Given the description of an element on the screen output the (x, y) to click on. 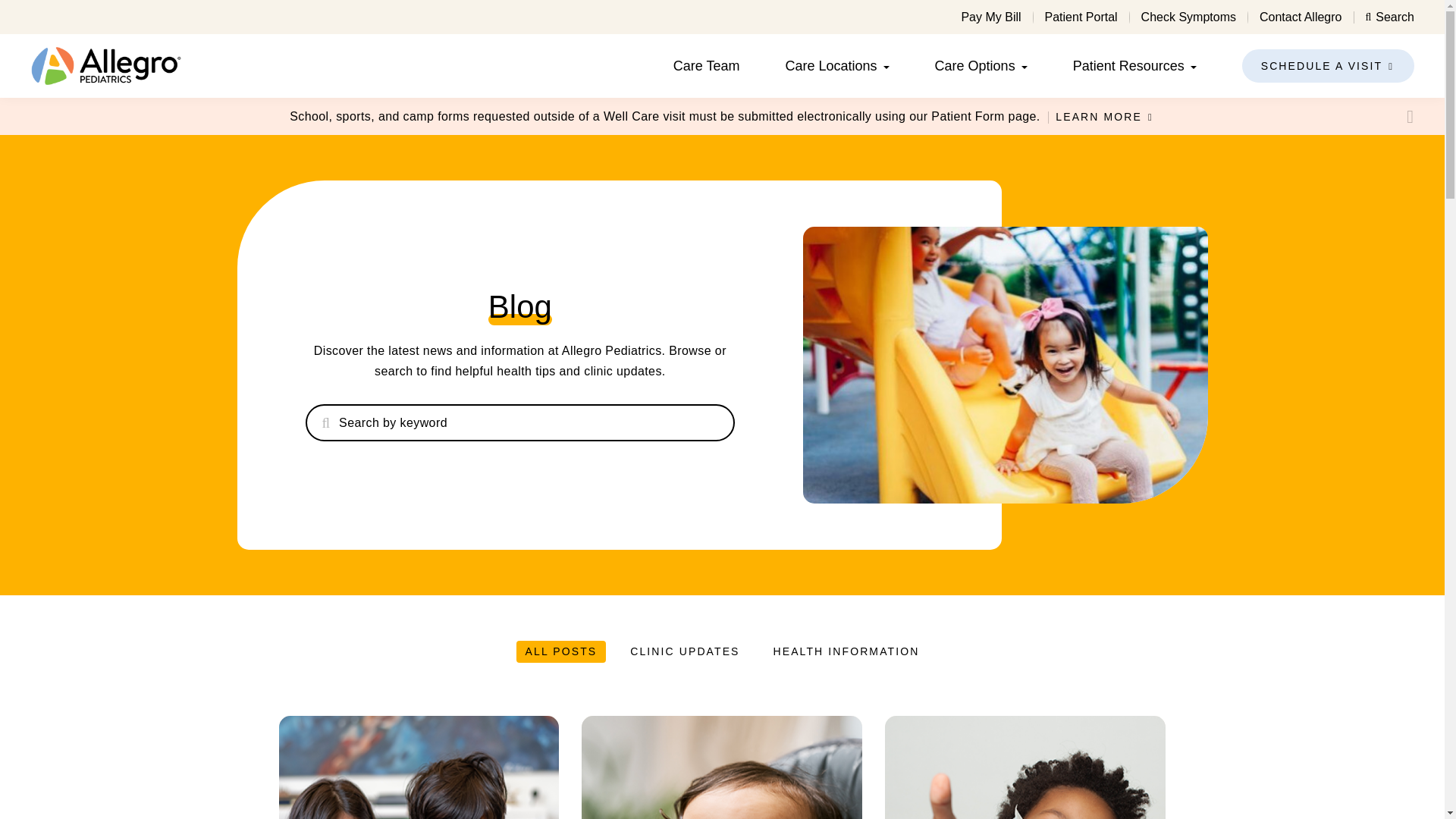
Check Symptoms (1188, 16)
Care Options (974, 65)
Contact Allegro (1300, 16)
Care Locations (831, 65)
Care Team (705, 65)
Patient Resources (1129, 65)
Pay My Bill (990, 16)
Patient Portal (1081, 16)
Search (1389, 16)
